Given the description of an element on the screen output the (x, y) to click on. 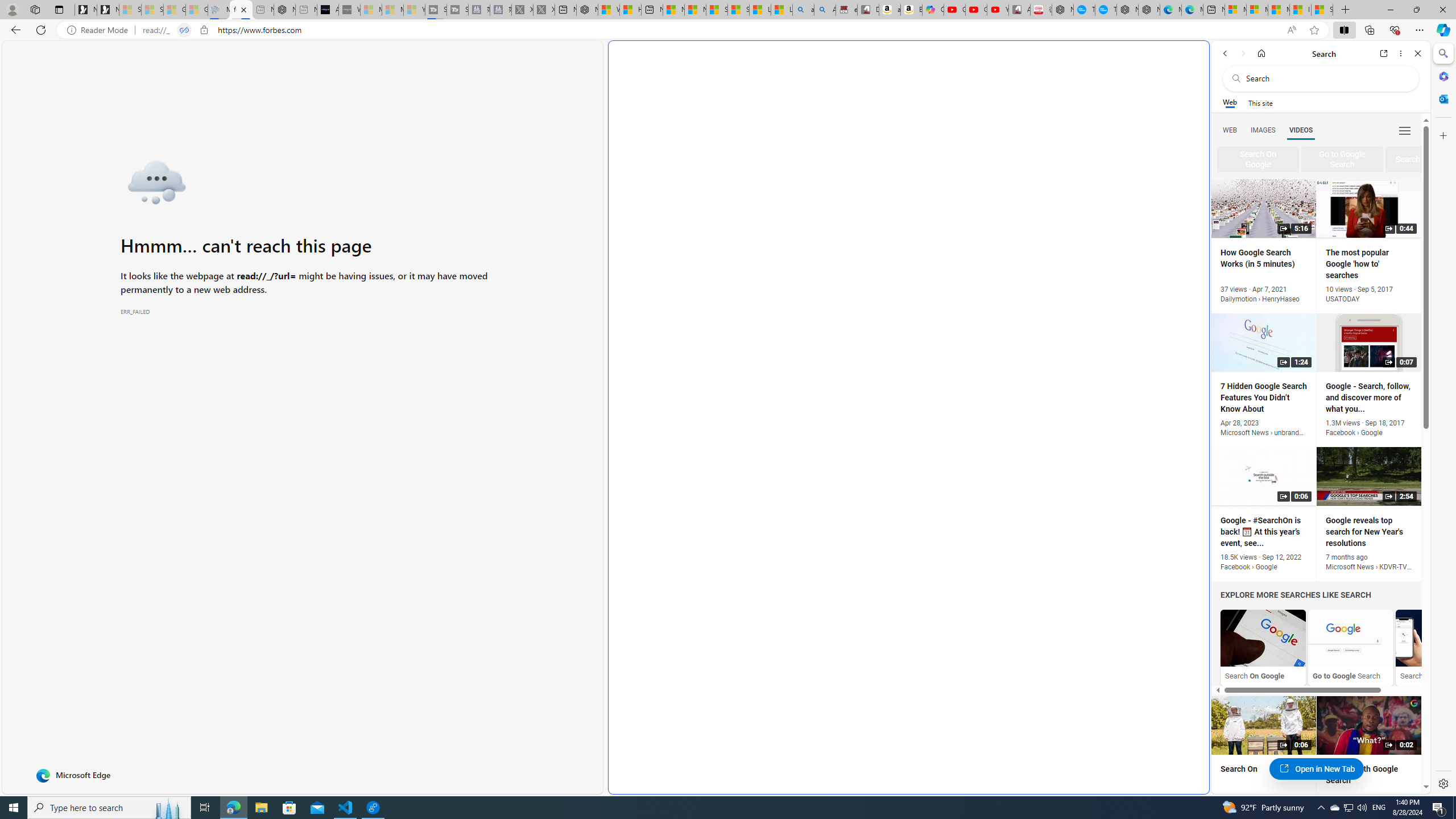
Search Filter, IMAGES (1262, 129)
What's the best AI voice generator? - voice.ai - Sleeping (349, 9)
VIDEOS (1300, 129)
Nordace - Nordace has arrived Hong Kong (1149, 9)
Search Filter, WEB (1230, 129)
Forward (1242, 53)
amazon - Search (802, 9)
Nordace - My Account (1062, 9)
Customize (1442, 135)
Wildlife - MSN (608, 9)
